Given the description of an element on the screen output the (x, y) to click on. 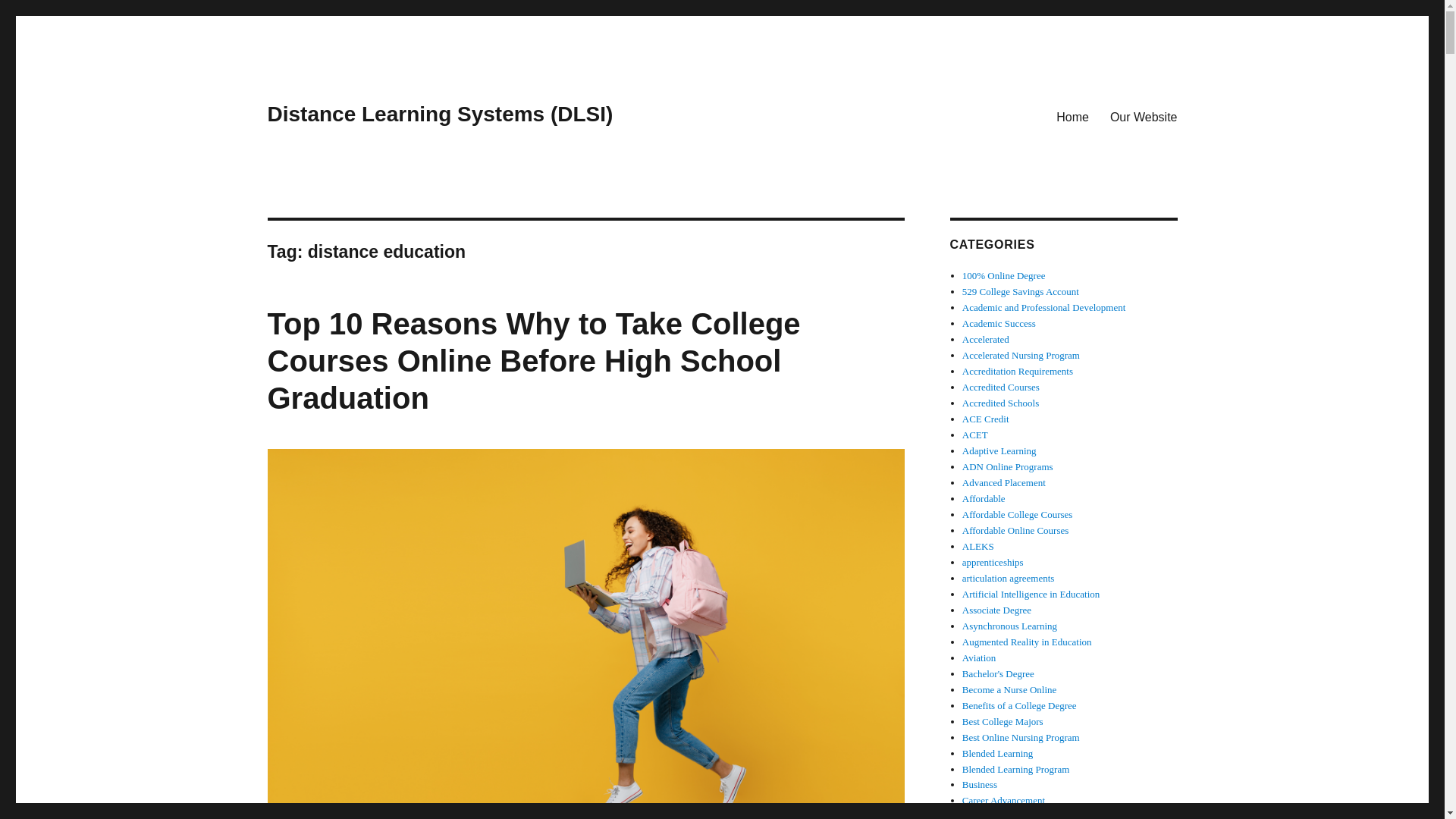
Our Website (1143, 116)
Home (1072, 116)
